Given the description of an element on the screen output the (x, y) to click on. 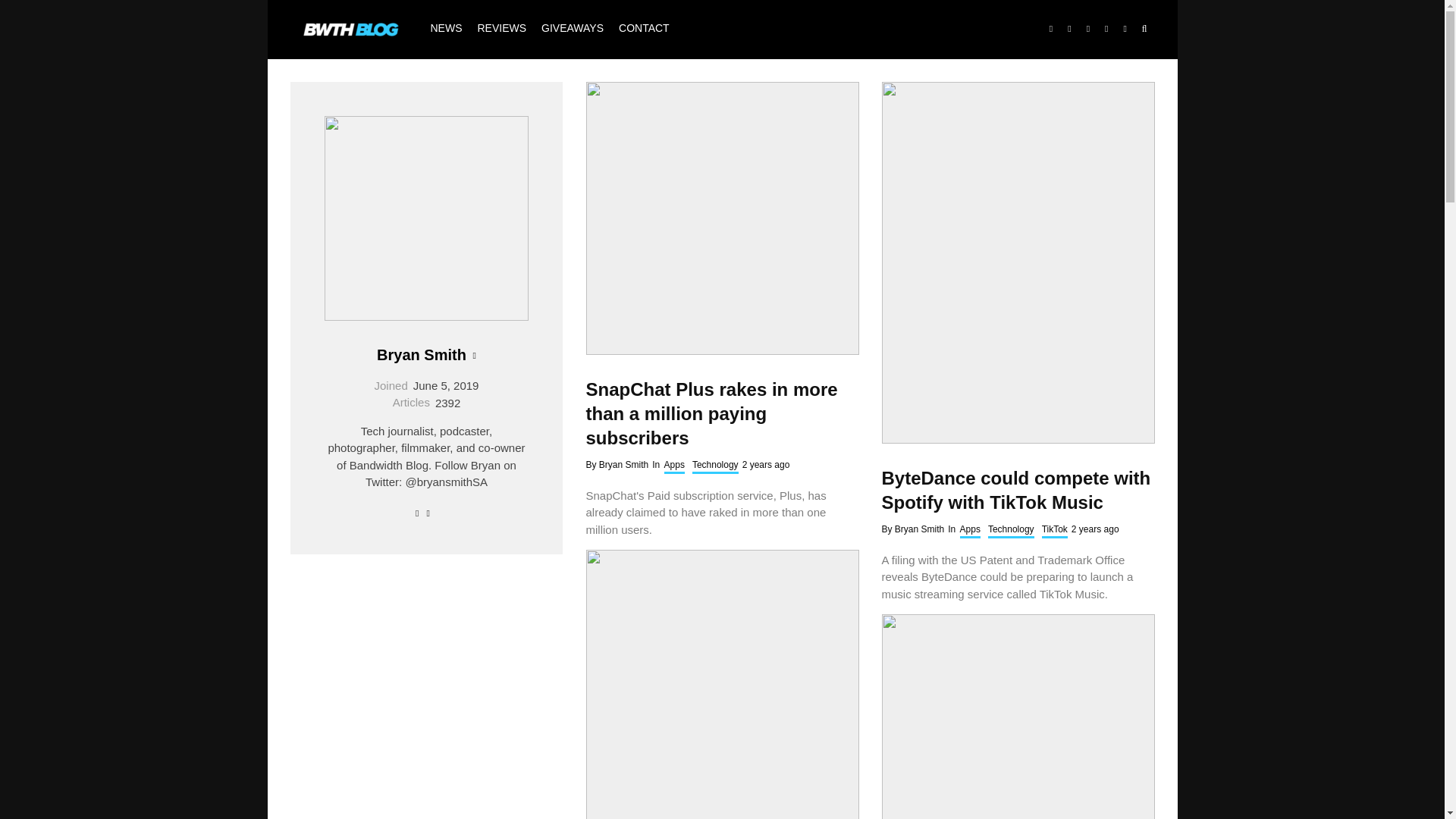
GIVEAWAYS (572, 29)
Bryan Smith (421, 354)
REVIEWS (502, 29)
CONTACT (644, 29)
